Given the description of an element on the screen output the (x, y) to click on. 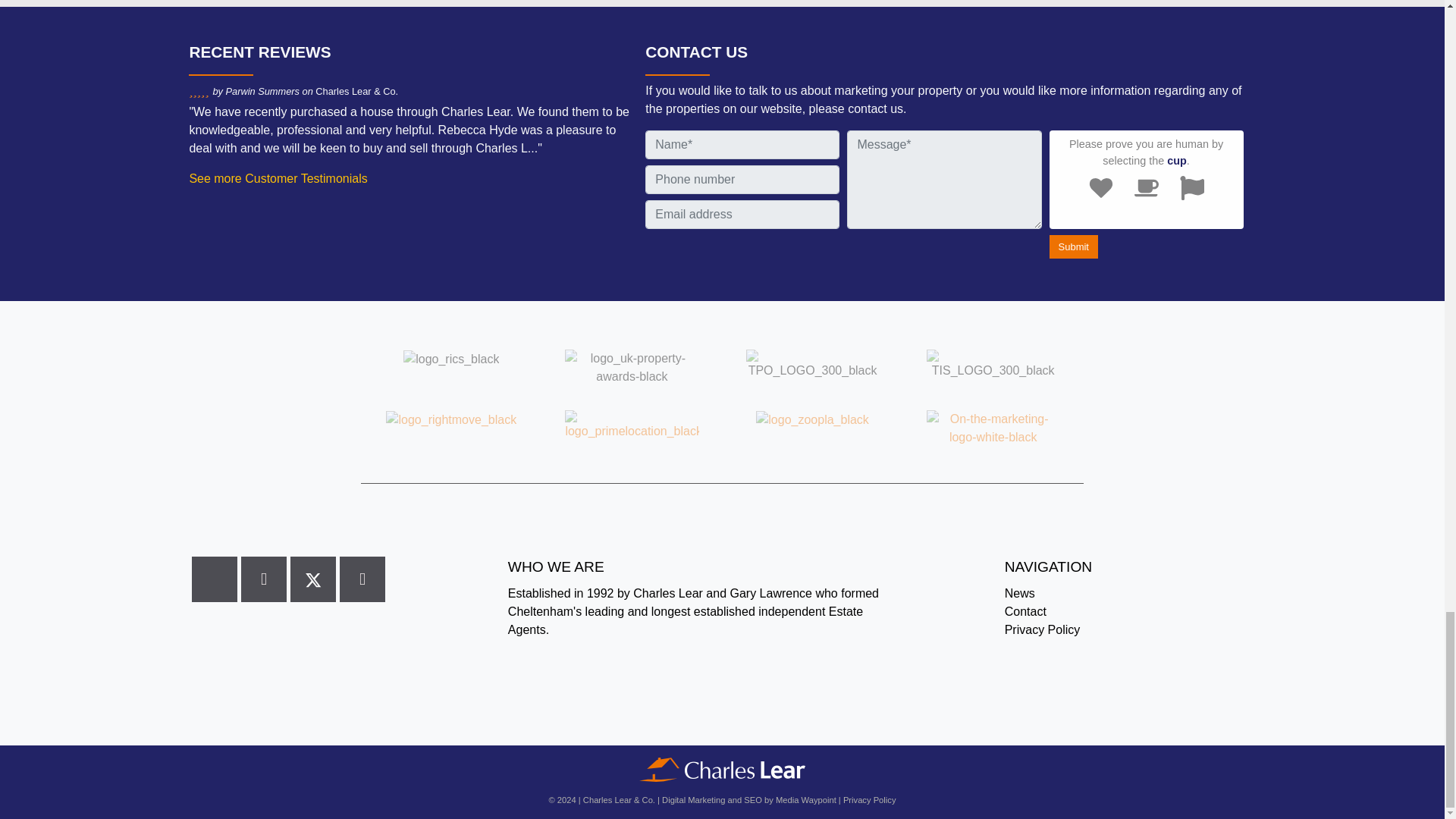
Submit (1073, 247)
